Given the description of an element on the screen output the (x, y) to click on. 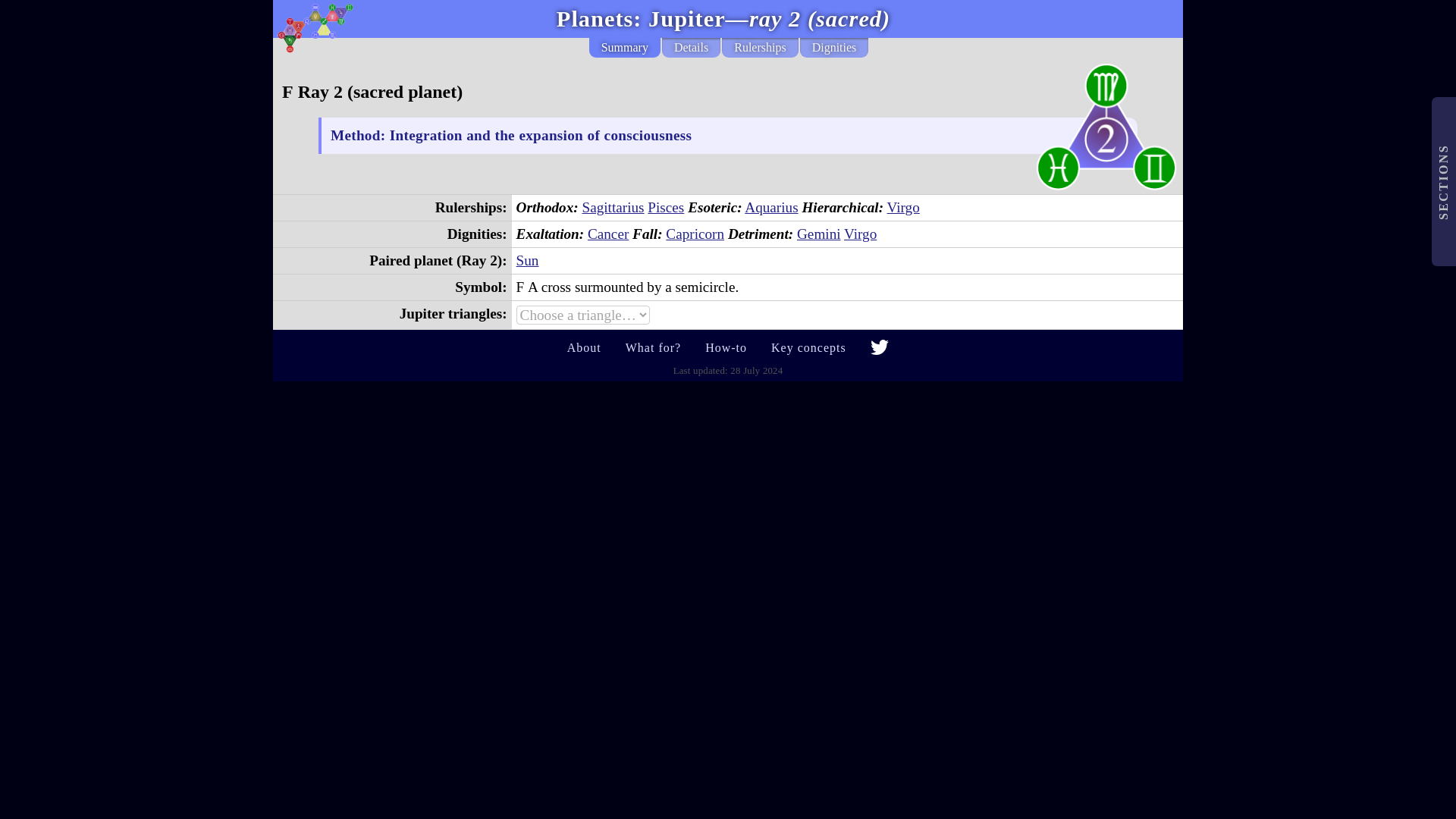
Details (691, 47)
Planets (594, 18)
Summary (625, 47)
Capricorn (694, 233)
Sagittarius (611, 207)
Aquarius (770, 207)
Gemini (818, 233)
Pisces (665, 207)
Dignities (834, 47)
Cancer (608, 233)
Virgo (860, 233)
Rulerships (759, 47)
Virgo (903, 207)
Sun (527, 260)
